Given the description of an element on the screen output the (x, y) to click on. 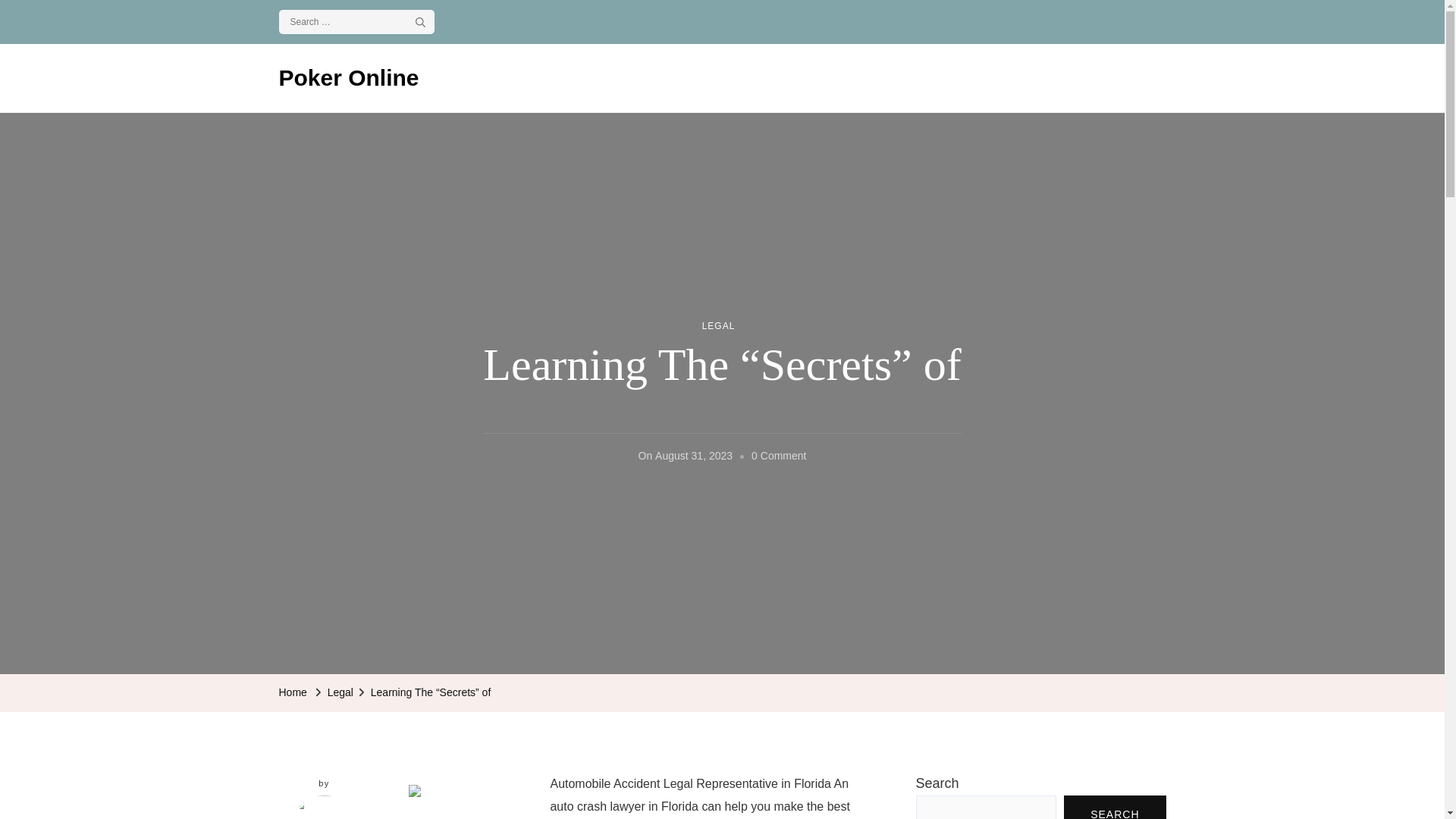
LEGAL (718, 326)
poker-24x7 (324, 807)
August 31, 2023 (693, 456)
Legal (340, 692)
SEARCH (1115, 807)
Home (293, 692)
Poker Online (349, 77)
